Given the description of an element on the screen output the (x, y) to click on. 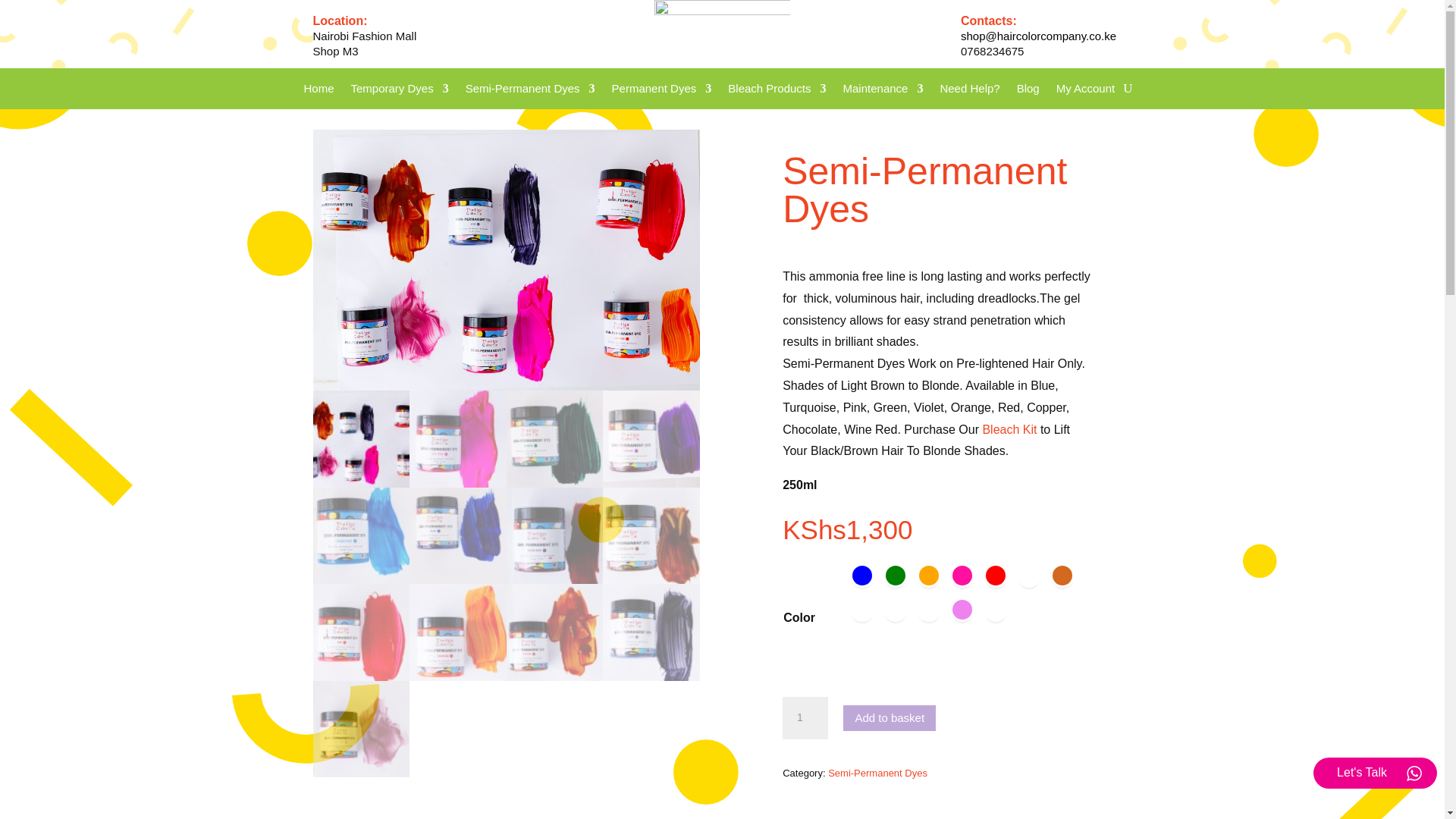
Home (317, 91)
1 (805, 717)
image00027 (505, 259)
Permanent Dyes (661, 91)
Temporary Dyes (399, 91)
Semi-Permanent Dyes (530, 91)
